Given the description of an element on the screen output the (x, y) to click on. 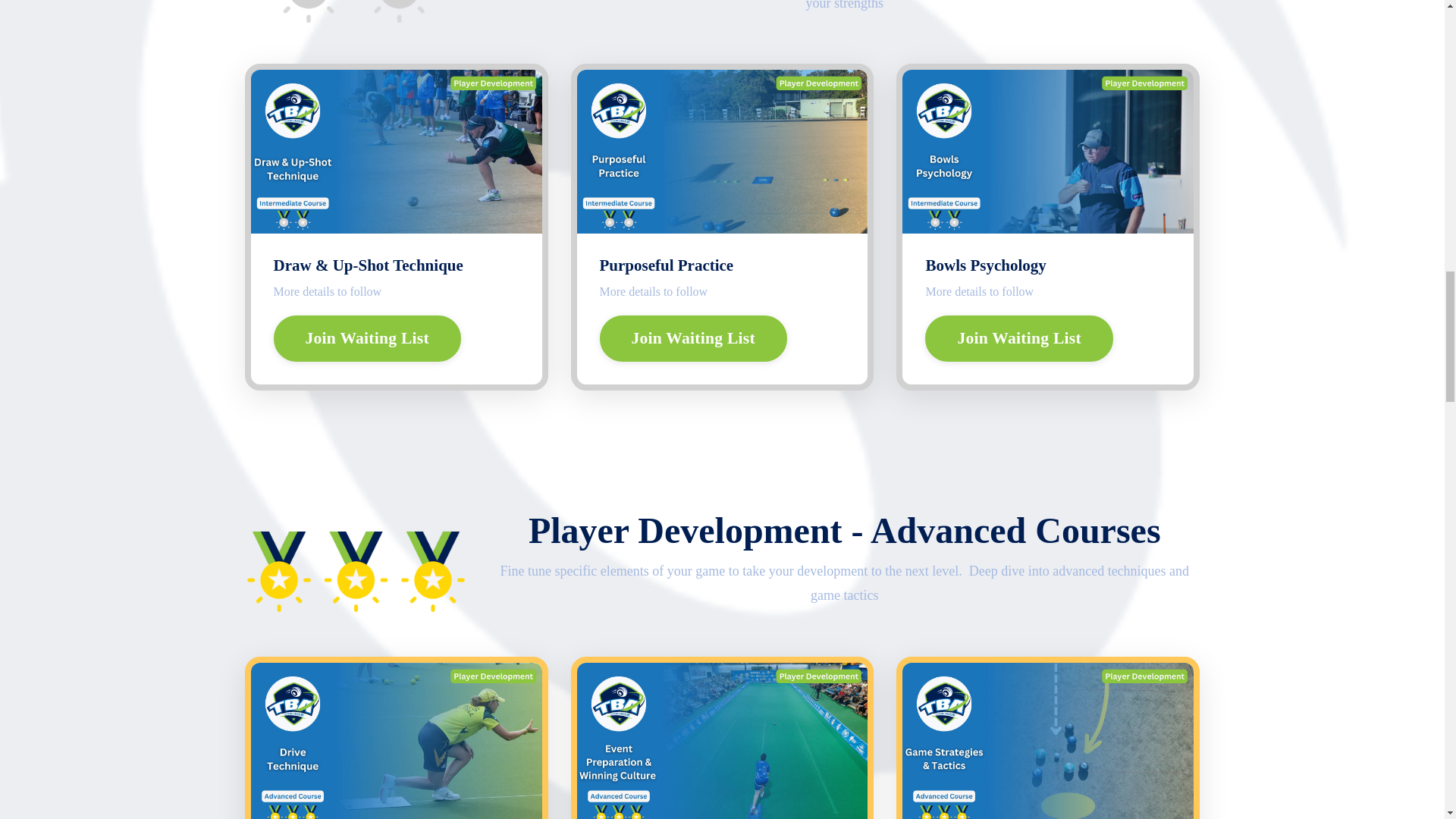
Join Waiting List (1018, 338)
Join Waiting List (367, 338)
Join Waiting List (692, 338)
